Given the description of an element on the screen output the (x, y) to click on. 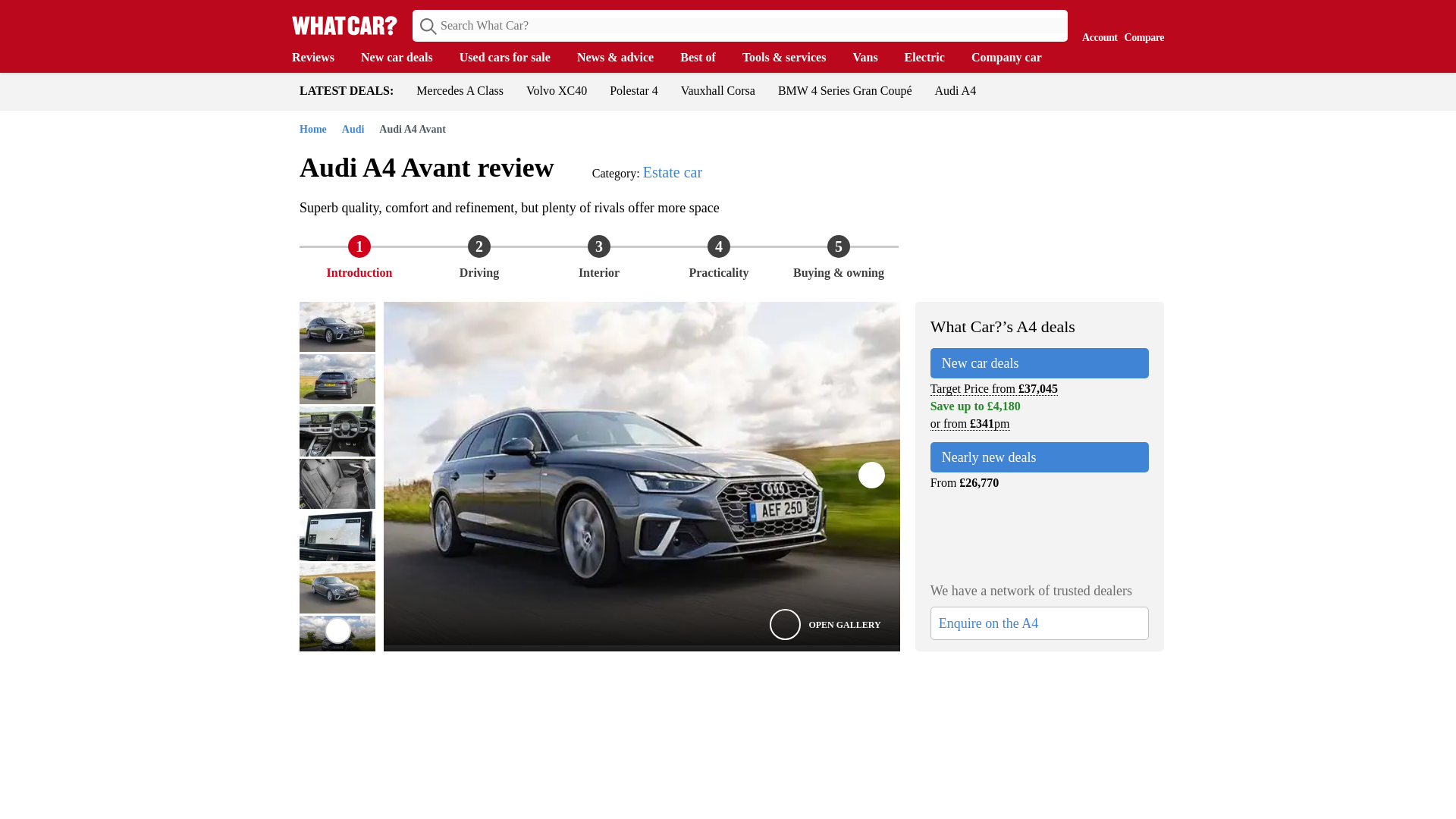
Best of (704, 57)
Account (1095, 24)
Compare (1140, 24)
Used cars for sale (513, 57)
Vans (871, 57)
New car deals (404, 57)
Electric (931, 57)
Company car (1014, 57)
Reviews (320, 57)
WhatCar? logo (344, 25)
